Given the description of an element on the screen output the (x, y) to click on. 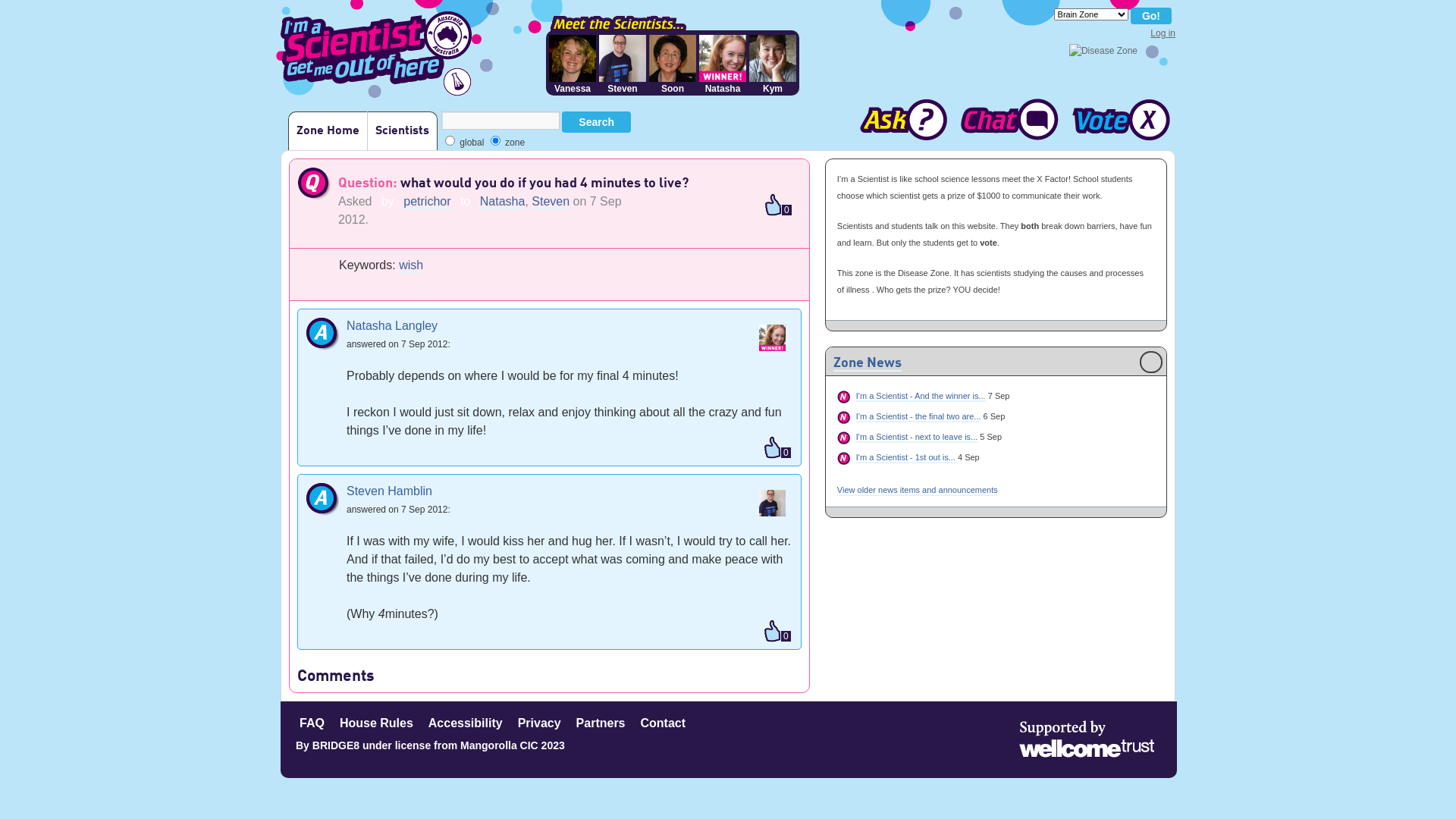
FAQ Element type: text (311, 721)
petrichor Element type: text (426, 201)
Kym Element type: text (772, 64)
I'm a Scientist - the final two are... Element type: text (918, 416)
Steven Hamblin Element type: text (389, 491)
0 Element type: text (777, 205)
Contact Element type: text (662, 721)
Scientists Element type: text (402, 130)
I'm a Scientist - 1st out is... Element type: text (905, 457)
Privacy Element type: text (539, 721)
Soon Element type: text (672, 64)
0 Element type: text (776, 631)
Accessibility Element type: text (465, 721)
Funded by Wellcome Trust Element type: hover (1087, 738)
Log in Element type: text (1162, 33)
Go to Zone home Element type: hover (1103, 50)
Zone Home Element type: text (327, 130)
Zone News Element type: text (867, 363)
Mangorolla CIC Element type: text (499, 744)
Steven Element type: text (550, 201)
House Rules Element type: text (376, 721)
Go! Element type: text (1150, 15)
View older news items and announcements Element type: text (917, 490)
I'm a Scientist - next to leave is... Element type: text (916, 437)
I'm a Scientist - And the winner is... Element type: text (920, 396)
wish Element type: text (410, 265)
0 Element type: text (776, 448)
Steven Element type: text (622, 64)
Natasha Langley Element type: text (391, 326)
Vanessa Element type: text (572, 64)
Natasha Element type: text (722, 64)
Partners Element type: text (600, 721)
Search Element type: text (595, 121)
Natasha Element type: text (502, 201)
